Given the description of an element on the screen output the (x, y) to click on. 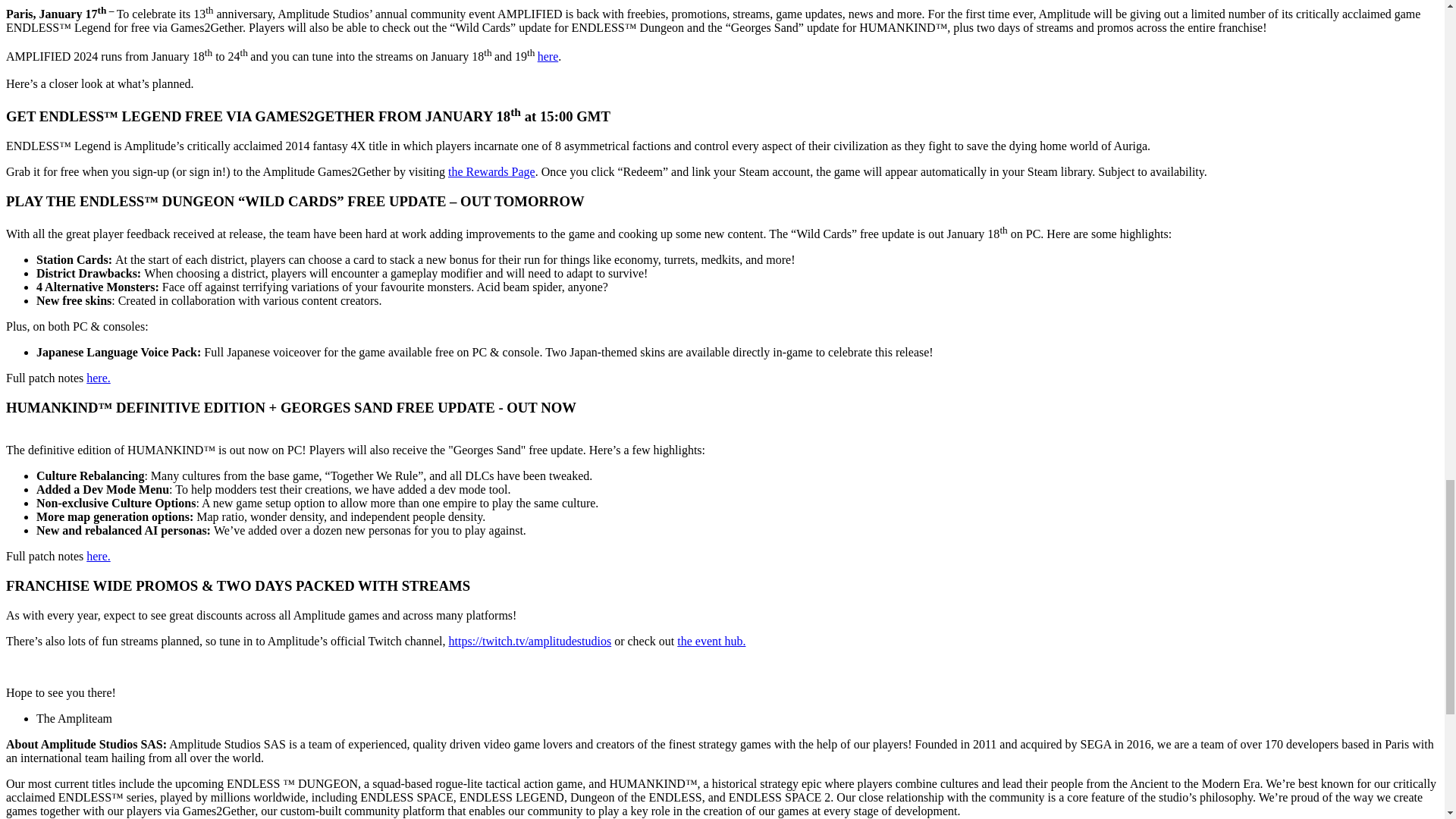
here. (97, 377)
the Rewards Page (491, 171)
here (548, 56)
here. (97, 555)
the event hub. (711, 640)
